Given the description of an element on the screen output the (x, y) to click on. 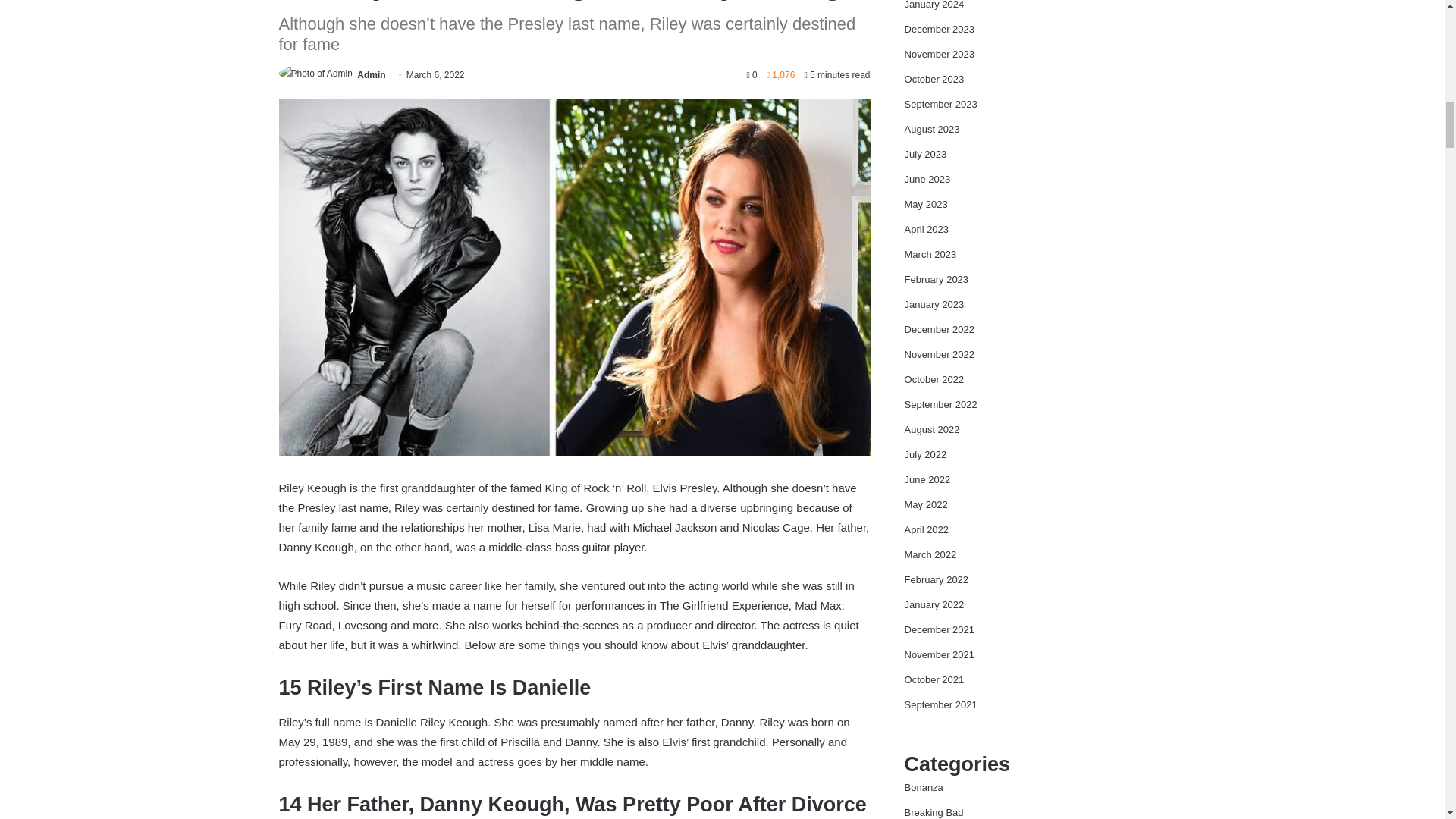
Admin (370, 74)
Admin (370, 74)
